Given the description of an element on the screen output the (x, y) to click on. 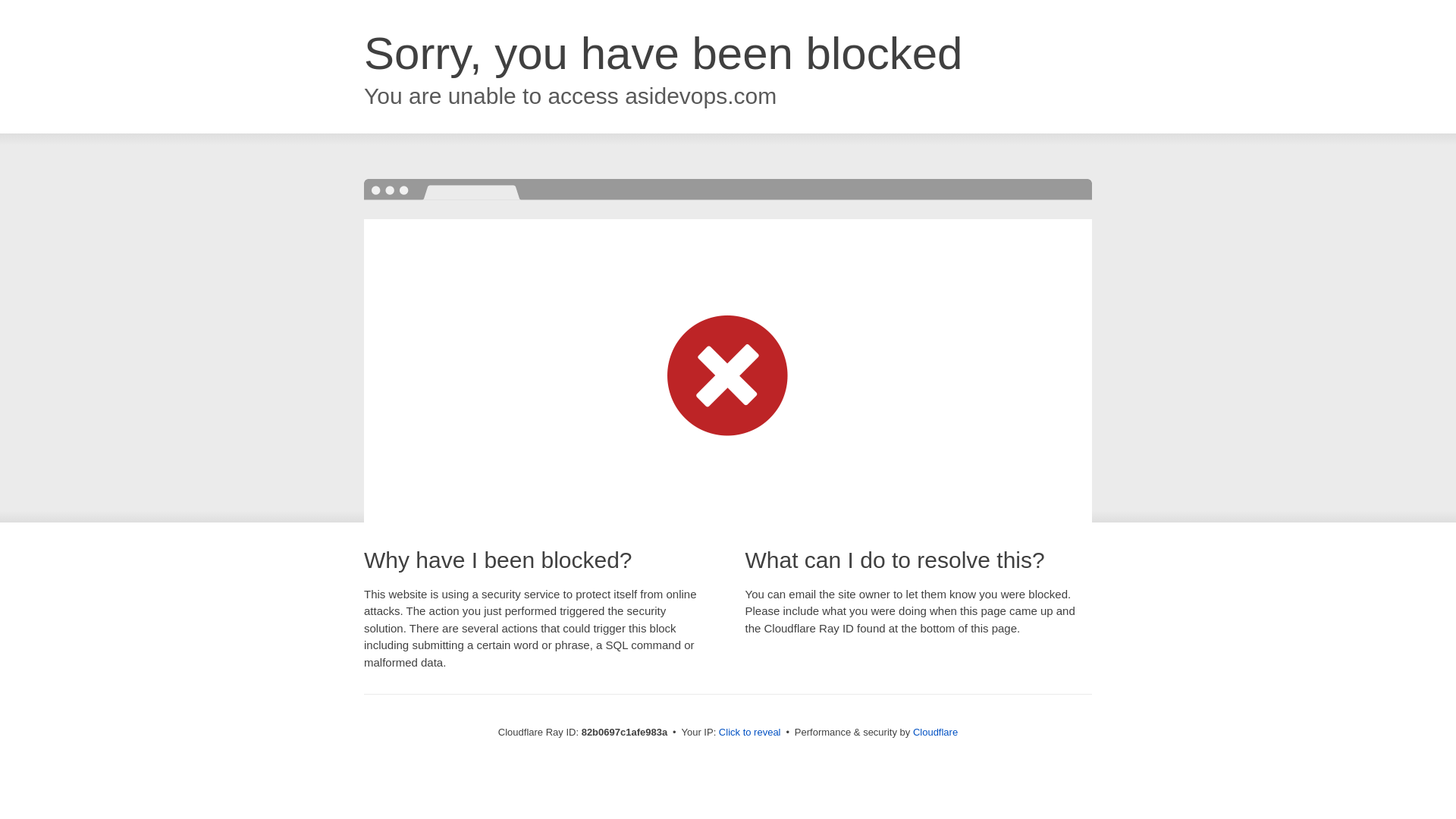
Click to reveal Element type: text (749, 732)
Cloudflare Element type: text (935, 731)
